Given the description of an element on the screen output the (x, y) to click on. 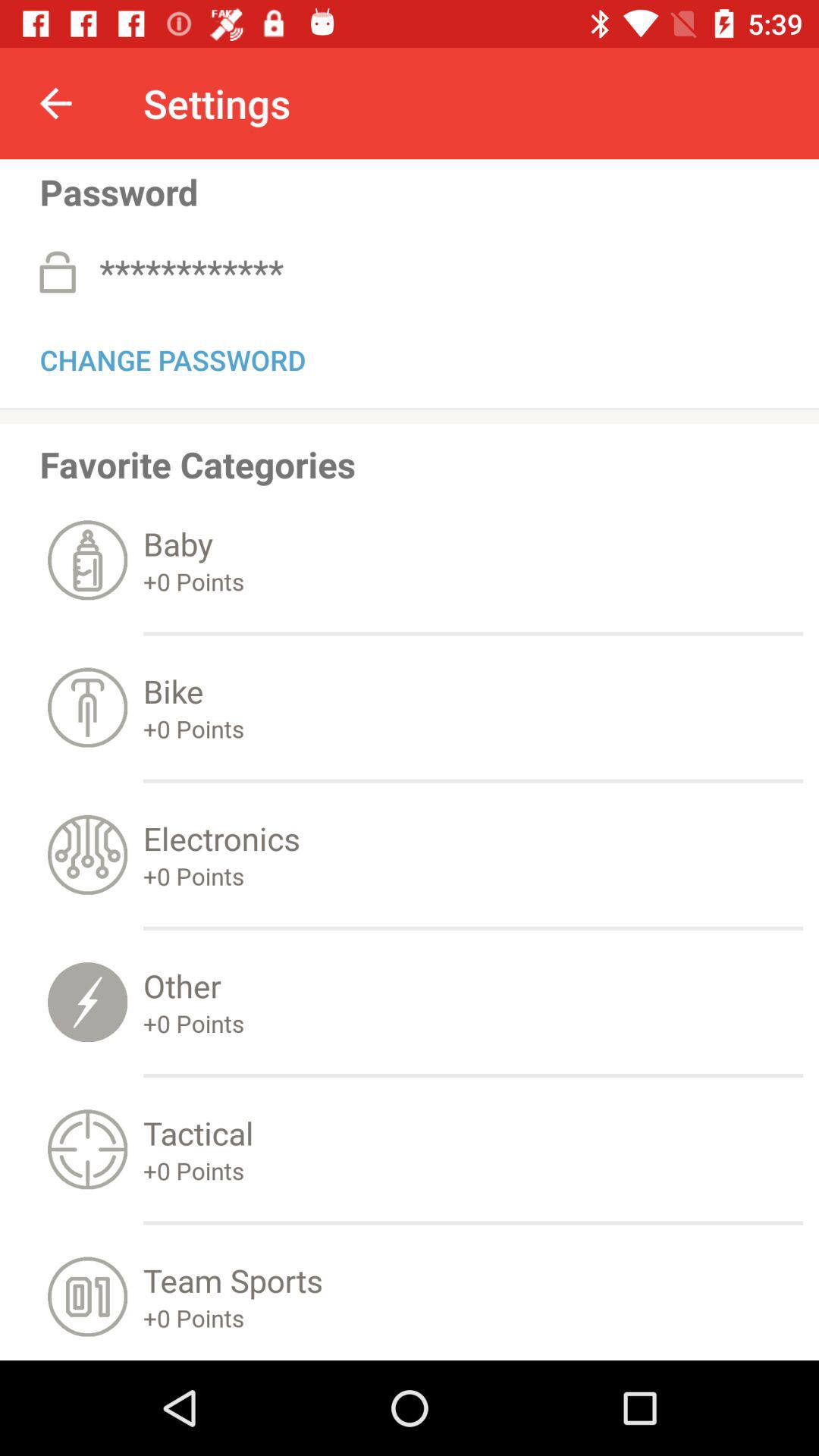
select the icon below ************ (172, 357)
